Given the description of an element on the screen output the (x, y) to click on. 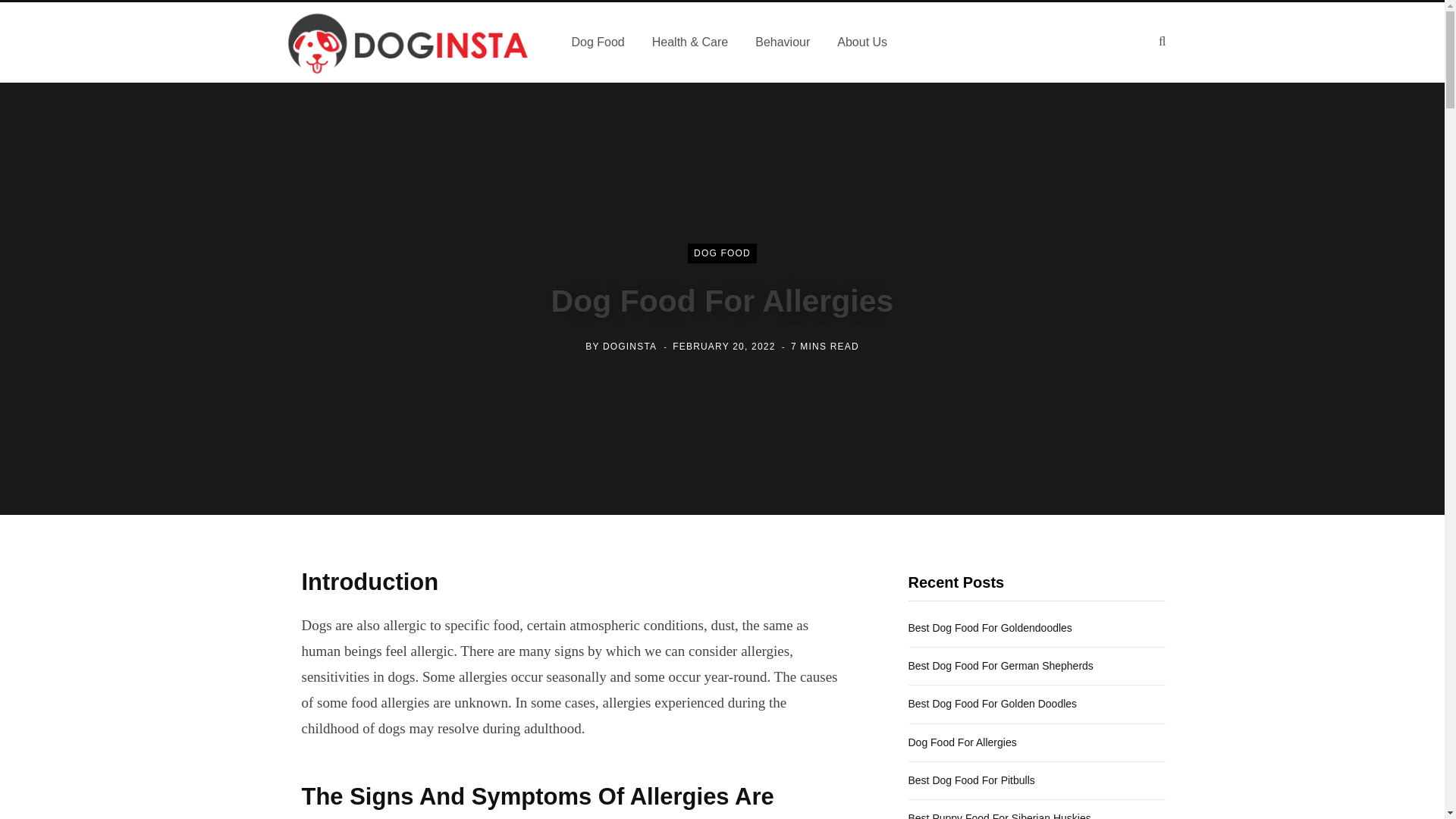
Best Dog Food For Golden Doodles (992, 703)
Posts by doginsta (629, 347)
Best Dog Food For Pitbulls (971, 779)
DOG FOOD (722, 252)
Search (1162, 41)
Best Dog Food For German Shepherds (1000, 665)
Best Dog Food For Goldendoodles (989, 627)
DOGINSTA (629, 347)
Best Puppy Food For Siberian Huskies (999, 815)
DogInsta (407, 42)
Behaviour (782, 41)
Dog Food For Allergies (962, 742)
Dog Food (597, 41)
About Us (862, 41)
